Given the description of an element on the screen output the (x, y) to click on. 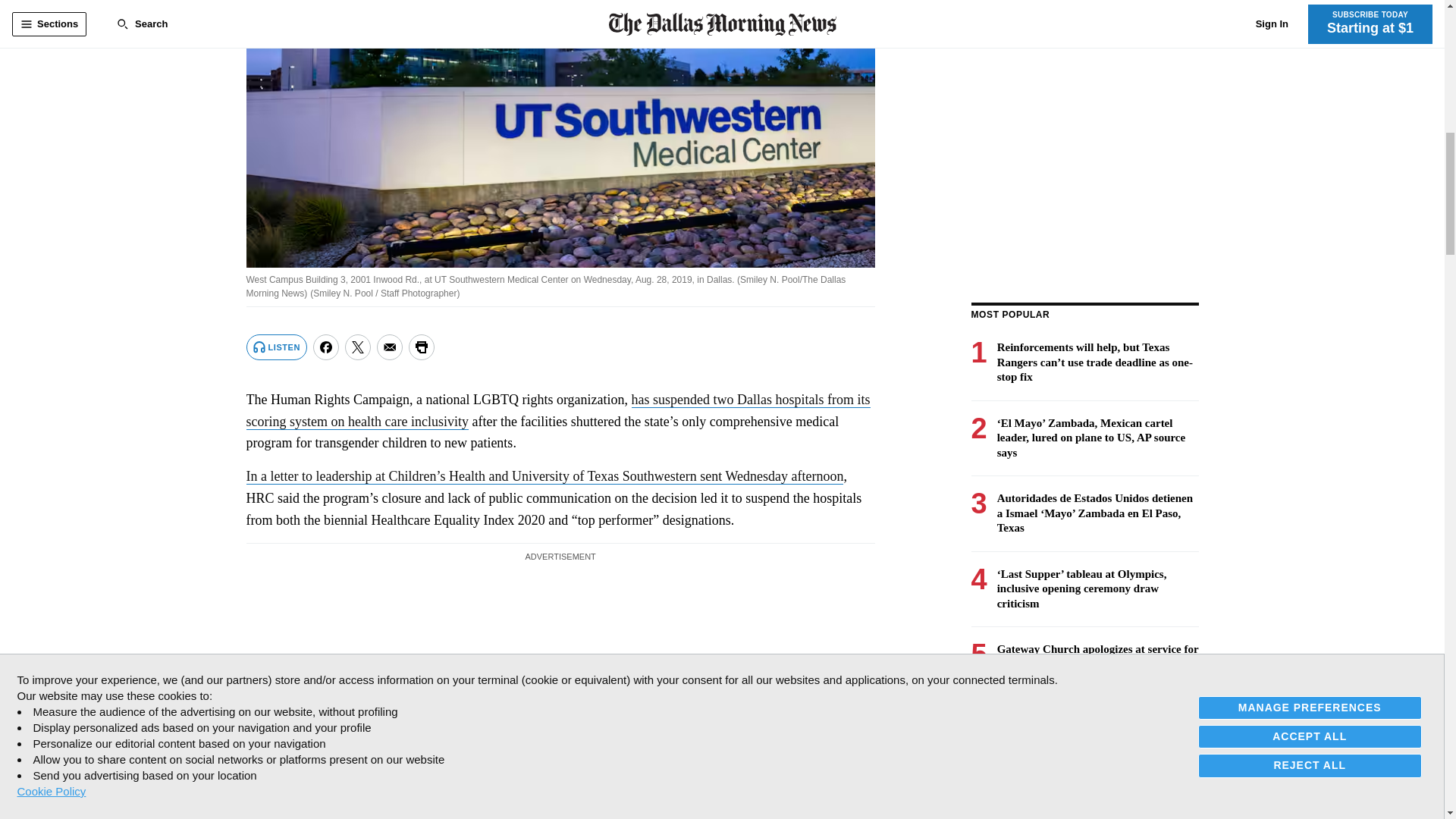
Share on Twitter (358, 347)
Share via Email (390, 347)
Print (421, 347)
Share on Facebook (326, 347)
